Given the description of an element on the screen output the (x, y) to click on. 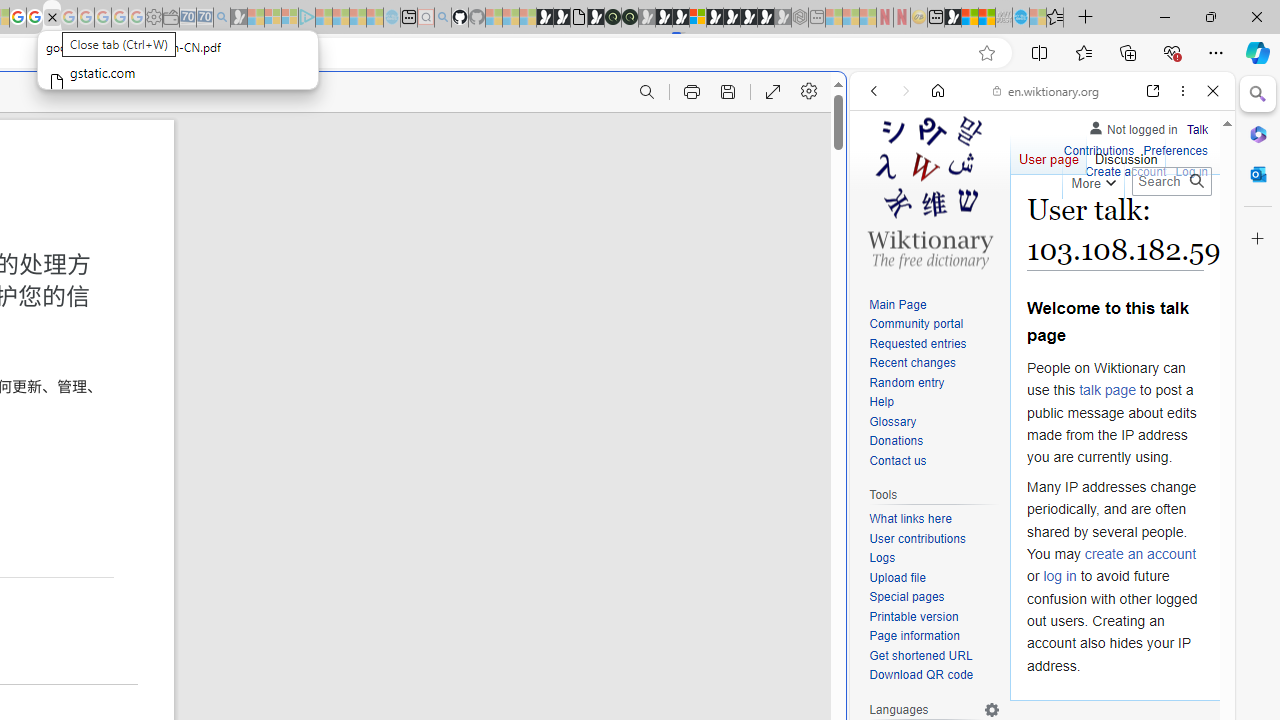
User contributions (917, 538)
Close Customize pane (1258, 239)
Not logged in (1132, 126)
Create account (1125, 169)
Glossary (934, 421)
Home (938, 91)
Upload file (934, 578)
Search Filter, Search Tools (1093, 228)
talk page (1107, 390)
Enter PDF full screen (773, 92)
